Given the description of an element on the screen output the (x, y) to click on. 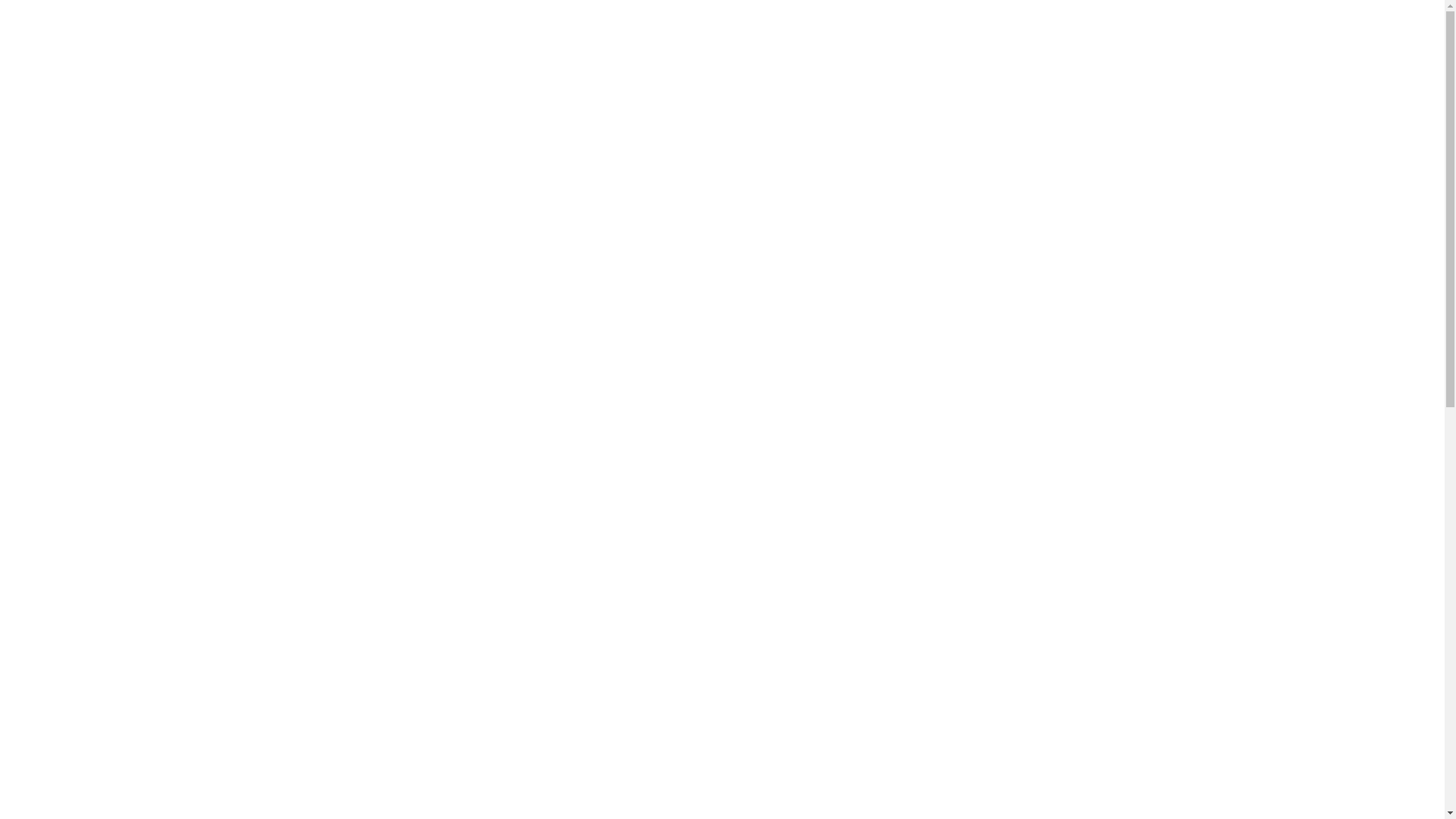
Search Element type: text (344, 48)
